Given the description of an element on the screen output the (x, y) to click on. 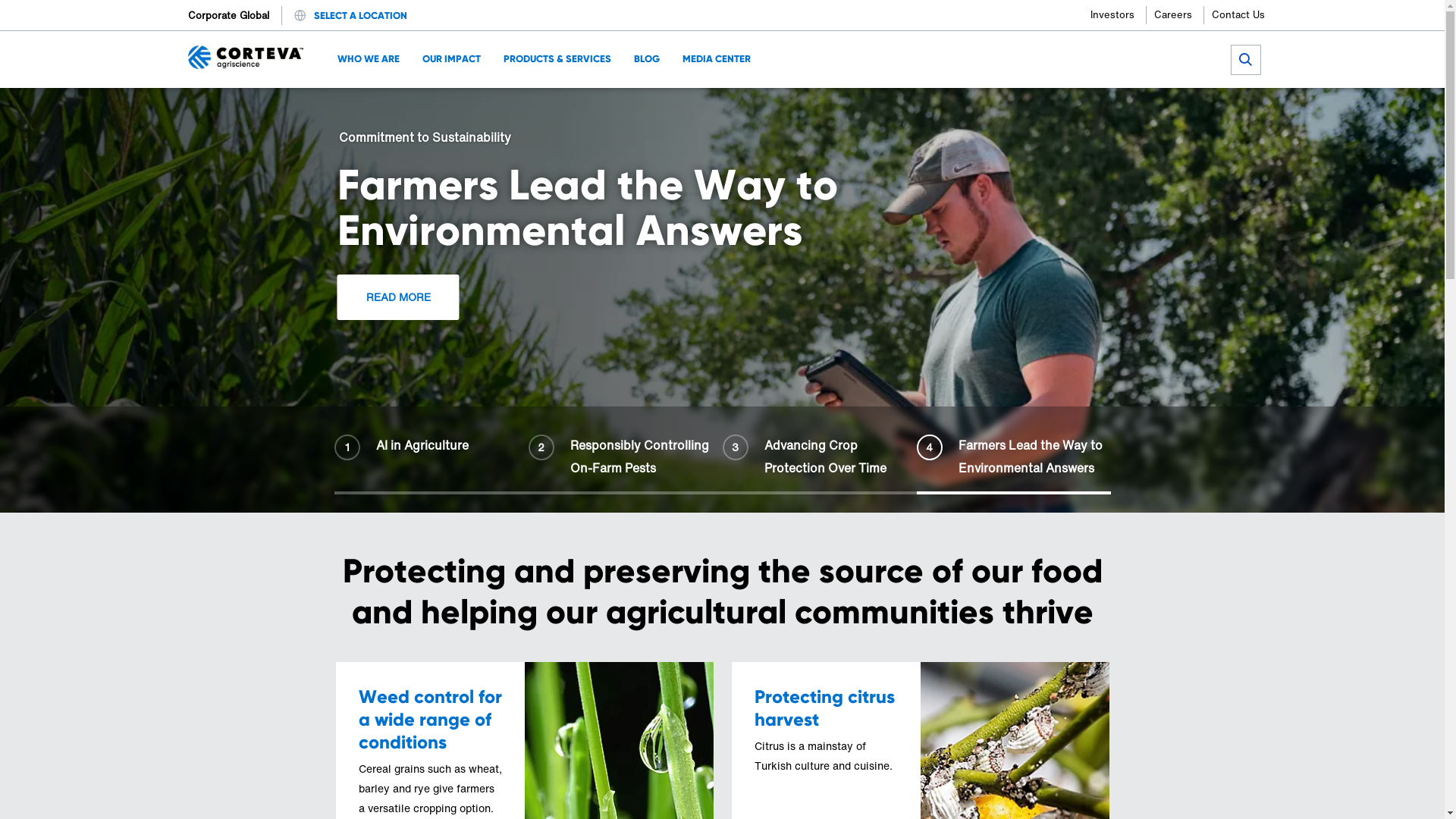
READ MORE Element type: text (852, 286)
OUR IMPACT Element type: text (451, 58)
WHO WE ARE Element type: text (368, 58)
BLOG Element type: text (646, 58)
PRODUCTS & SERVICES Element type: text (557, 58)
MEDIA CENTER Element type: text (716, 58)
Contact Us Element type: text (1237, 15)
Careers Element type: text (1179, 15)
SELECT A LOCATION Element type: text (360, 15)
READ MORE Element type: text (500, 297)
Investors Element type: text (1118, 15)
